Given the description of an element on the screen output the (x, y) to click on. 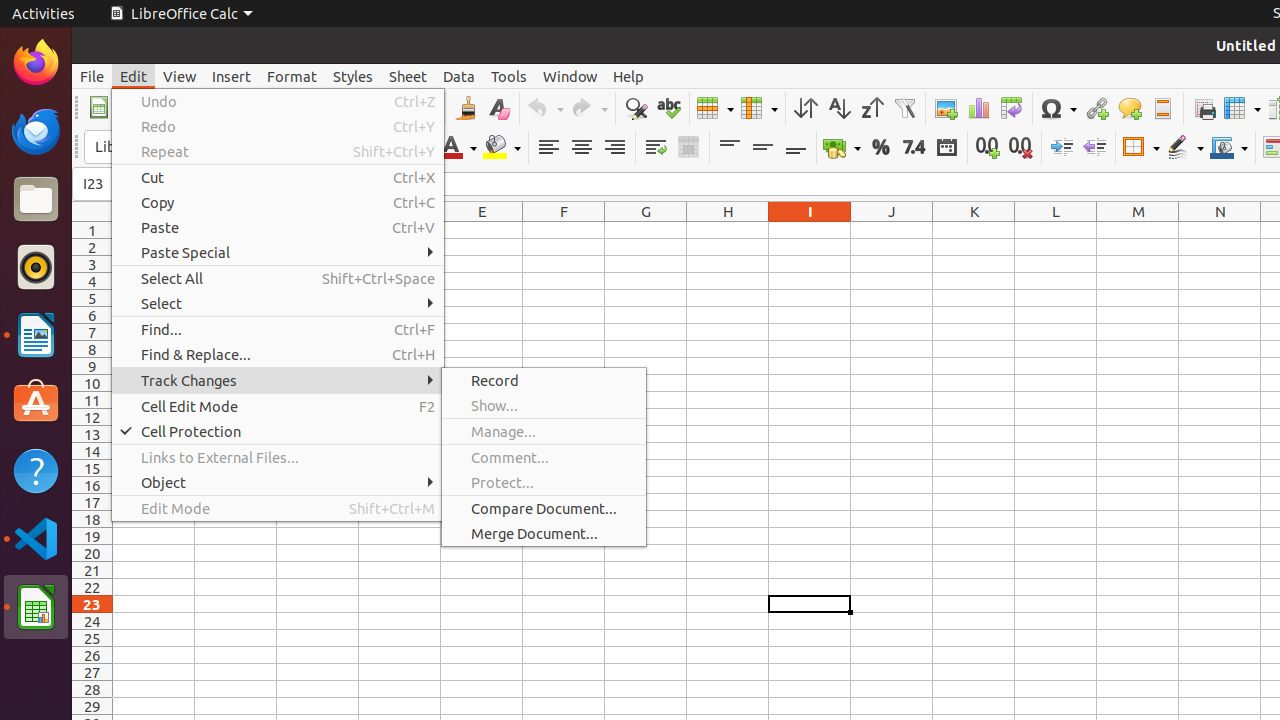
Object Element type: menu (278, 482)
LibreOffice Calc Element type: menu (181, 13)
Borders (Shift to overwrite) Element type: push-button (1141, 147)
Clear Element type: push-button (498, 108)
Row Element type: push-button (715, 108)
